Given the description of an element on the screen output the (x, y) to click on. 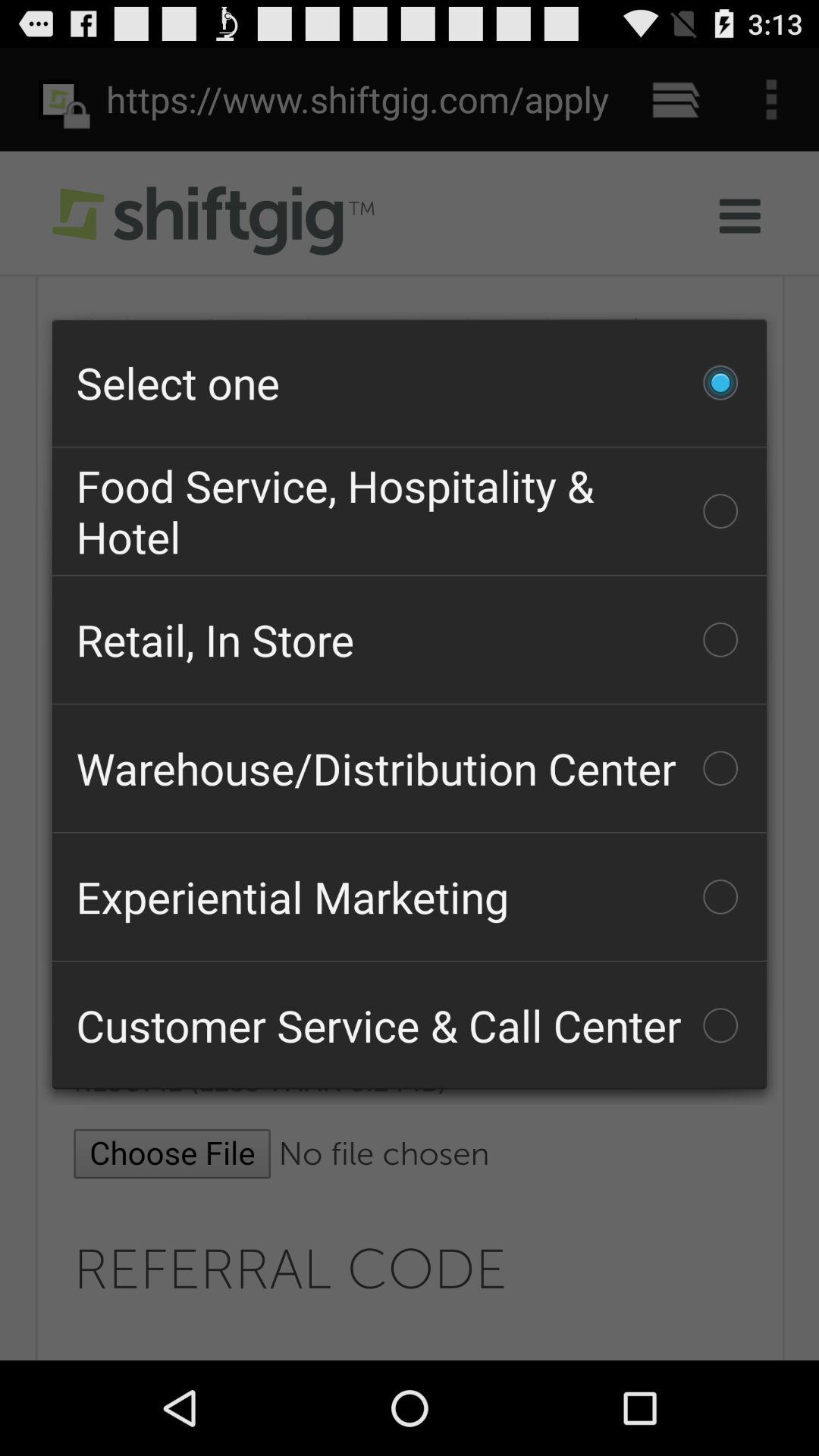
open the icon at the bottom (409, 1025)
